Given the description of an element on the screen output the (x, y) to click on. 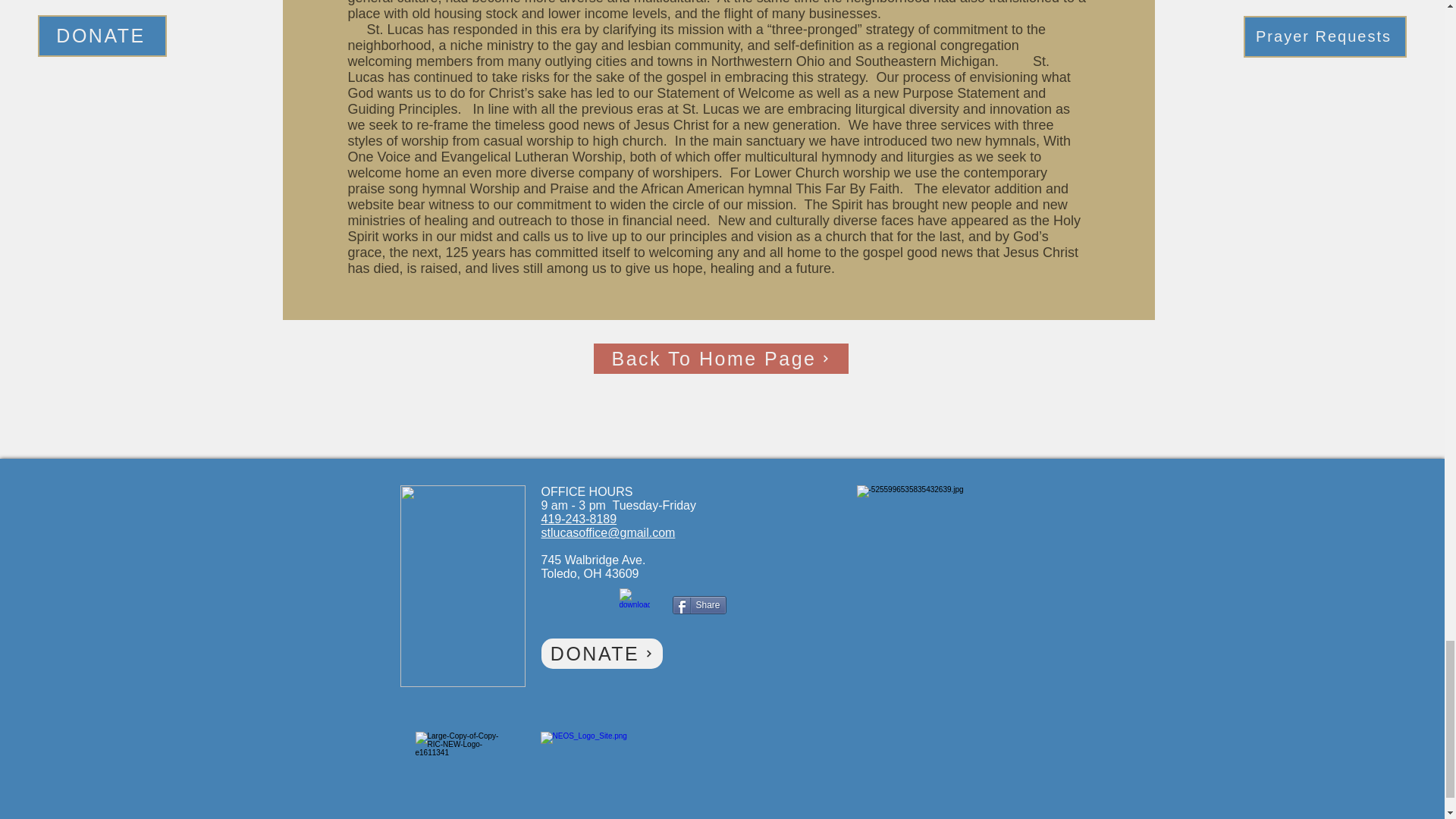
Share (698, 605)
Share (698, 605)
DONATE (601, 653)
Back To Home Page (719, 358)
419-243-8189 (579, 518)
